Given the description of an element on the screen output the (x, y) to click on. 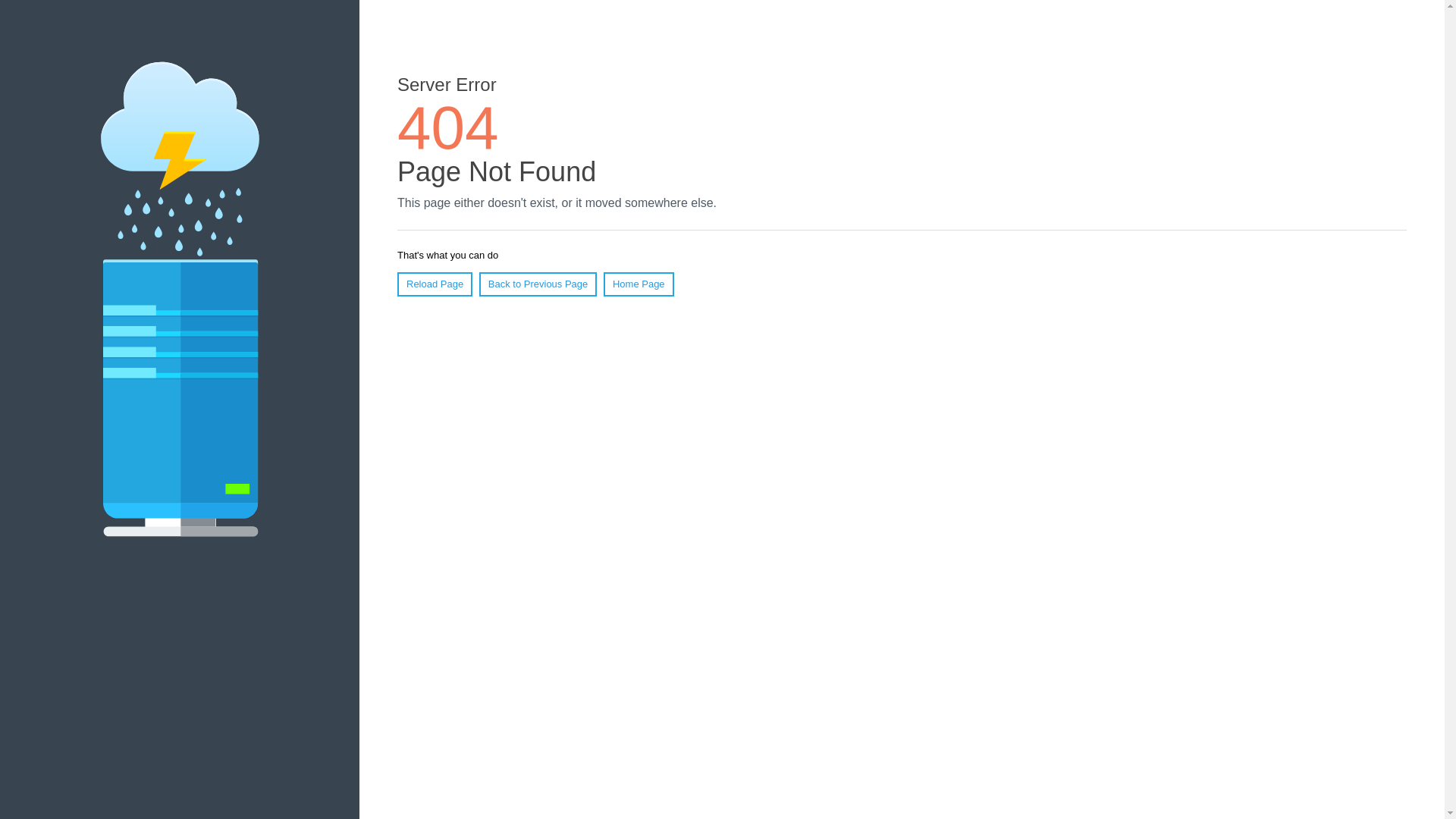
Back to Previous Page Element type: text (538, 284)
Home Page Element type: text (638, 284)
Reload Page Element type: text (434, 284)
